Given the description of an element on the screen output the (x, y) to click on. 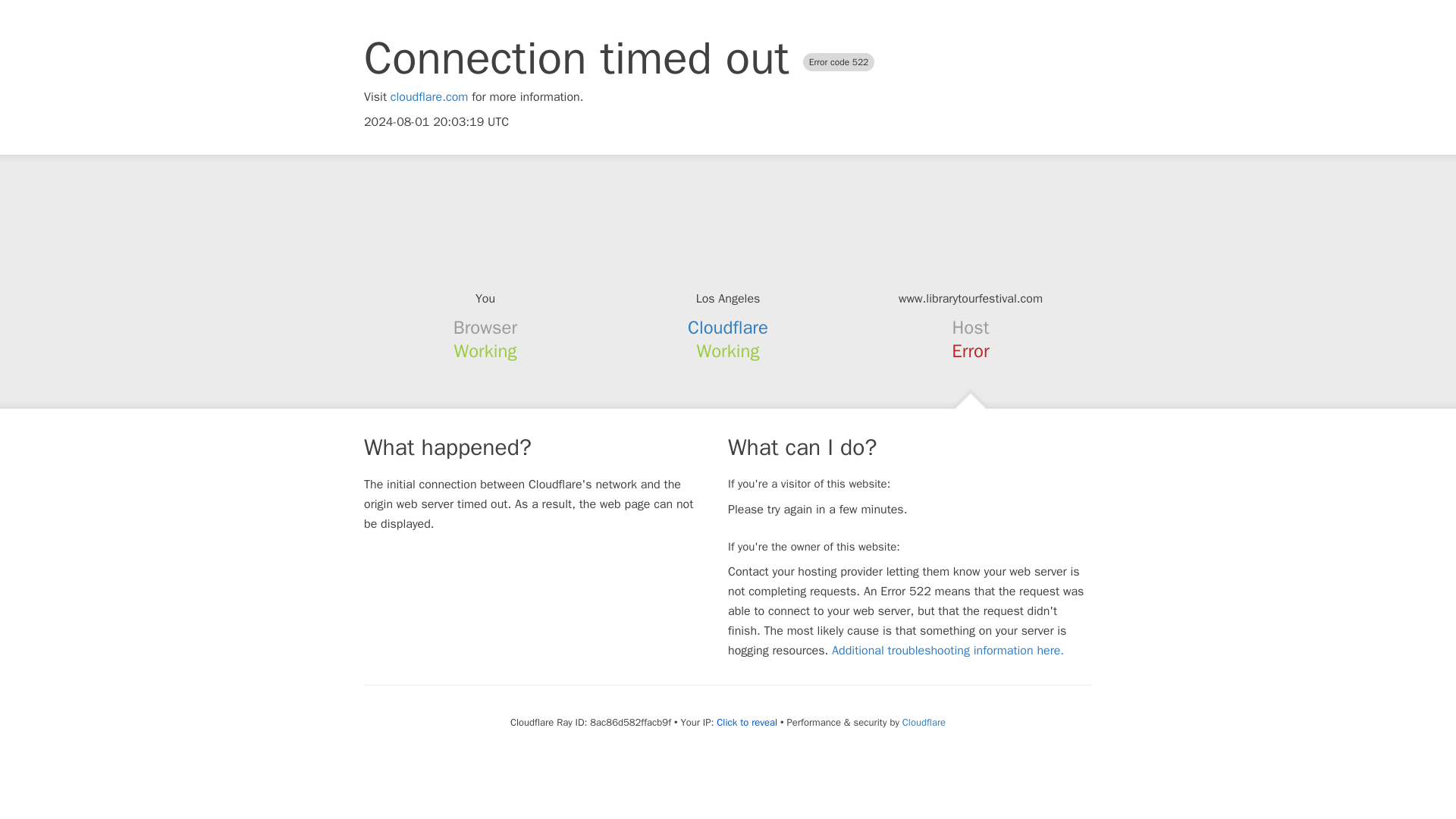
Cloudflare (923, 721)
cloudflare.com (429, 96)
Click to reveal (746, 722)
Additional troubleshooting information here. (947, 650)
Cloudflare (727, 327)
